Given the description of an element on the screen output the (x, y) to click on. 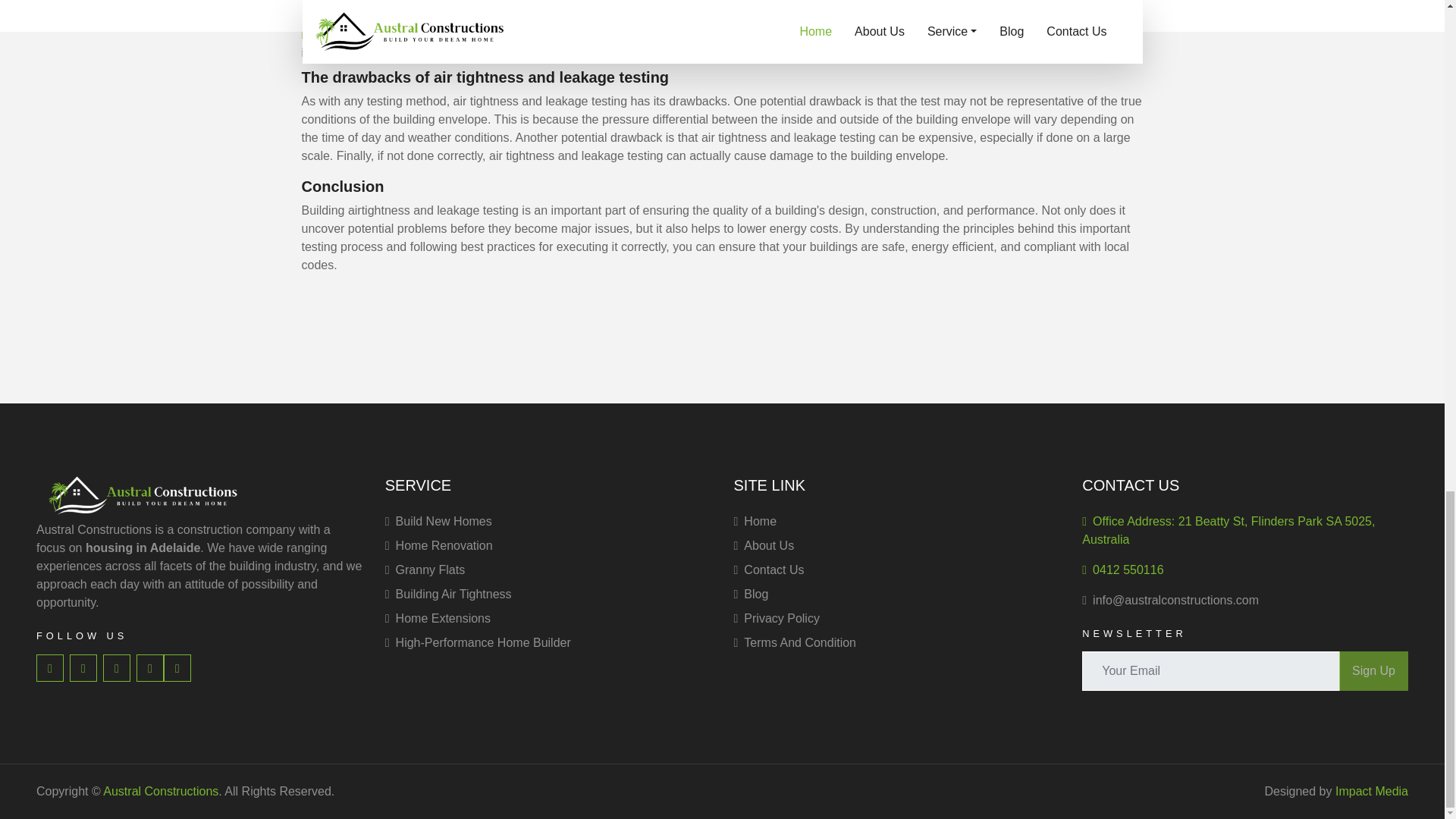
Home Extensions (548, 618)
High-Performance Home Builder (548, 642)
Home (896, 521)
Home Renovation (548, 546)
Build New Homes (548, 521)
About Us (896, 546)
Austral Constructions (143, 495)
Contact Us (896, 570)
Blog (896, 594)
Building Air Tightness (548, 594)
